Given the description of an element on the screen output the (x, y) to click on. 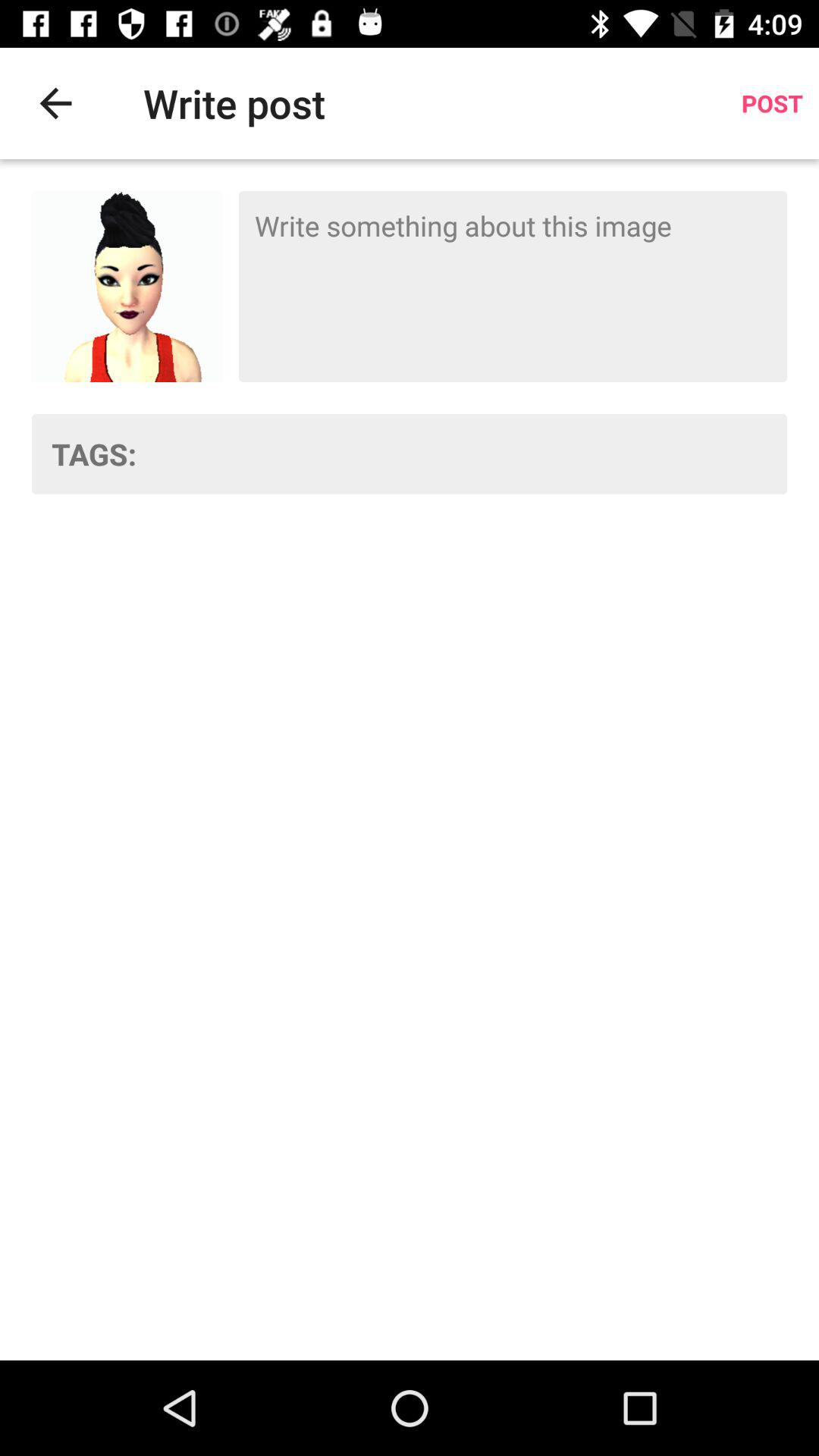
turn on the item next to the tags: (471, 454)
